Given the description of an element on the screen output the (x, y) to click on. 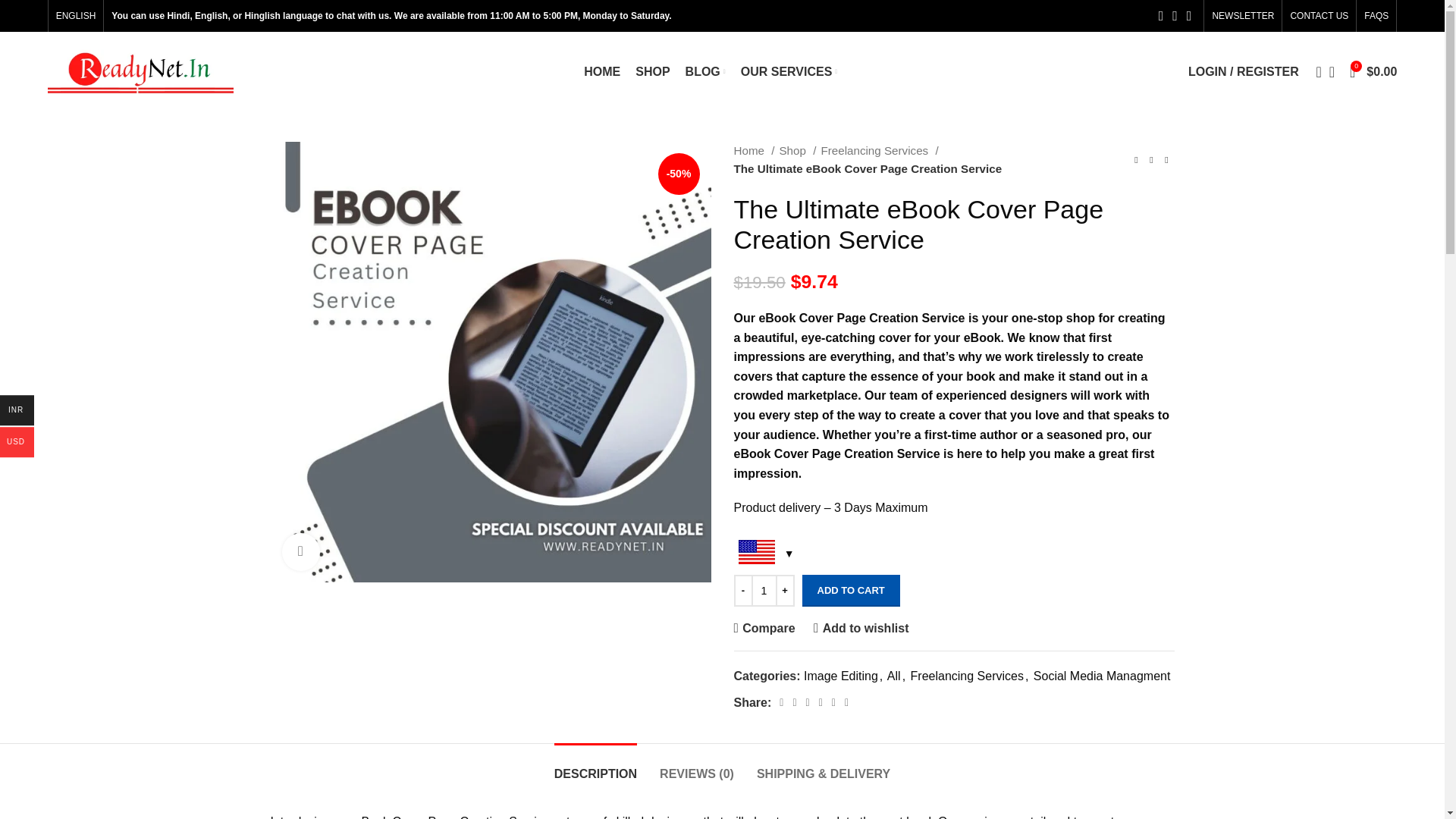
HOME (601, 71)
ENGLISH (76, 15)
OUR SERVICES (789, 71)
SHOP (651, 71)
BLOG (705, 71)
Please select your currency (763, 553)
NEWSLETTER (1242, 15)
Shopping cart (1373, 71)
CONTACT US (1319, 15)
My account (1243, 71)
